Given the description of an element on the screen output the (x, y) to click on. 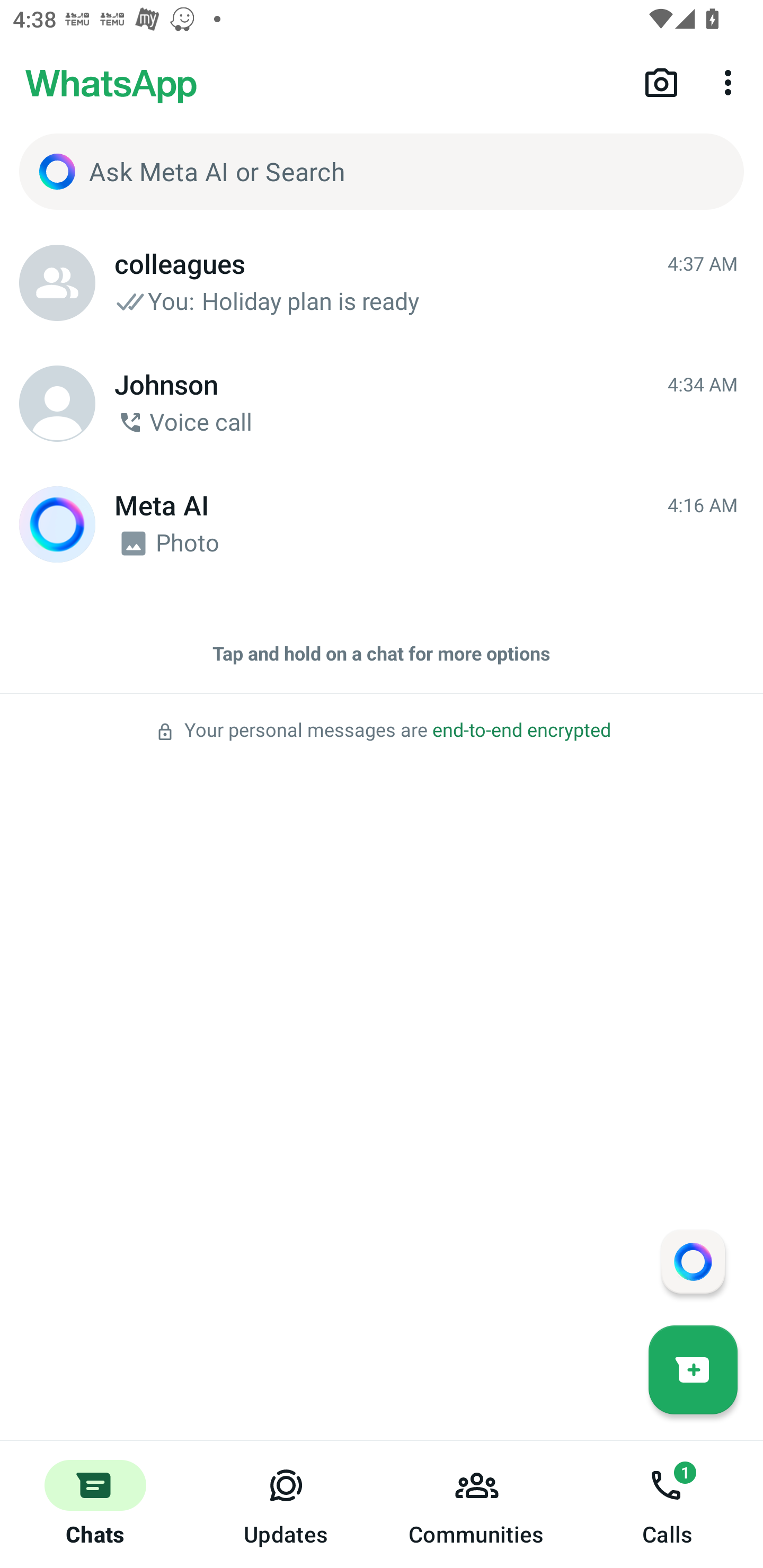
Camera (661, 81)
More options (731, 81)
colleagues (57, 282)
Johnson Johnson 4:34 AM 4:34 AM Voice call (381, 403)
Johnson (57, 403)
Meta AI Meta AI 4:16 AM 4:16 AM Photo (381, 524)
Meta AI (57, 524)
end-to-end encrypted (521, 730)
Message your assistant (692, 1261)
New chat (692, 1369)
Updates (285, 1504)
Communities (476, 1504)
Calls, 1 new notification Calls (667, 1504)
